Given the description of an element on the screen output the (x, y) to click on. 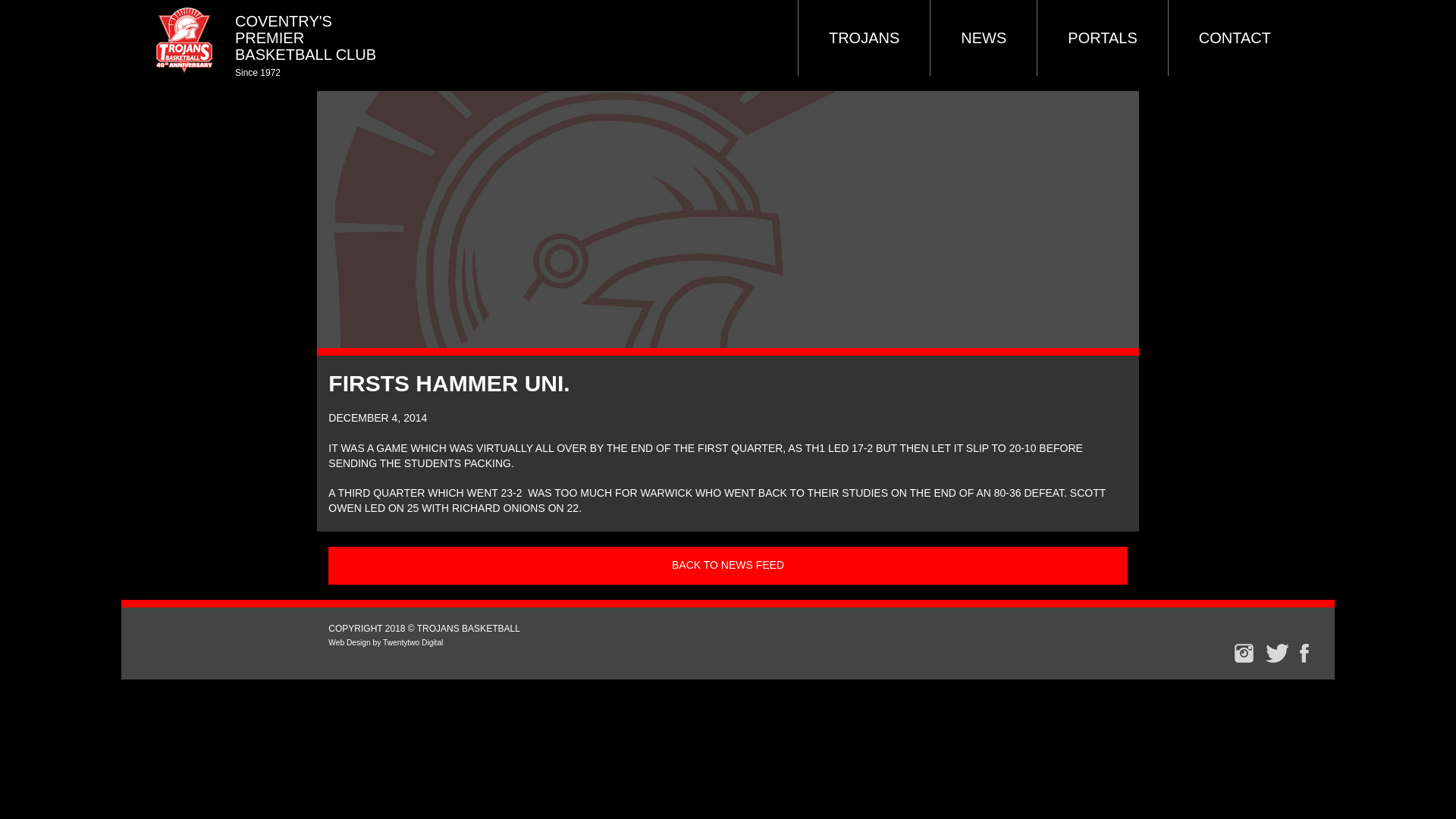
PORTALS (1101, 38)
TROJANS (863, 38)
Twentytwo Digital (412, 642)
NEWS (983, 38)
BACK TO NEWS FEED (727, 565)
Web Design (349, 642)
